Given the description of an element on the screen output the (x, y) to click on. 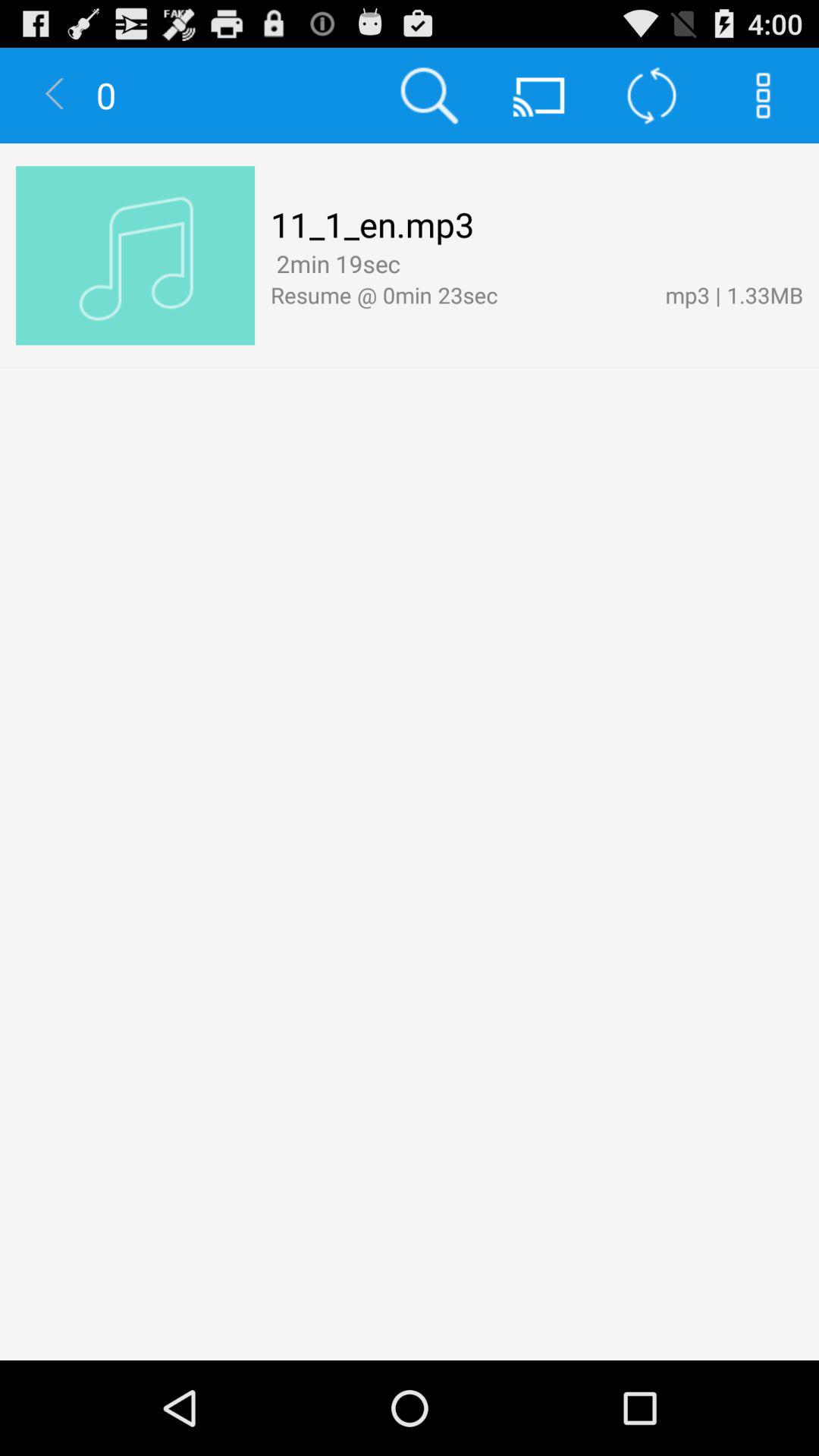
go to button right to search button (540, 95)
click the less than symbol (55, 95)
click on second button from top right corner (651, 95)
select the menu icon on the top right side (763, 95)
